Given the description of an element on the screen output the (x, y) to click on. 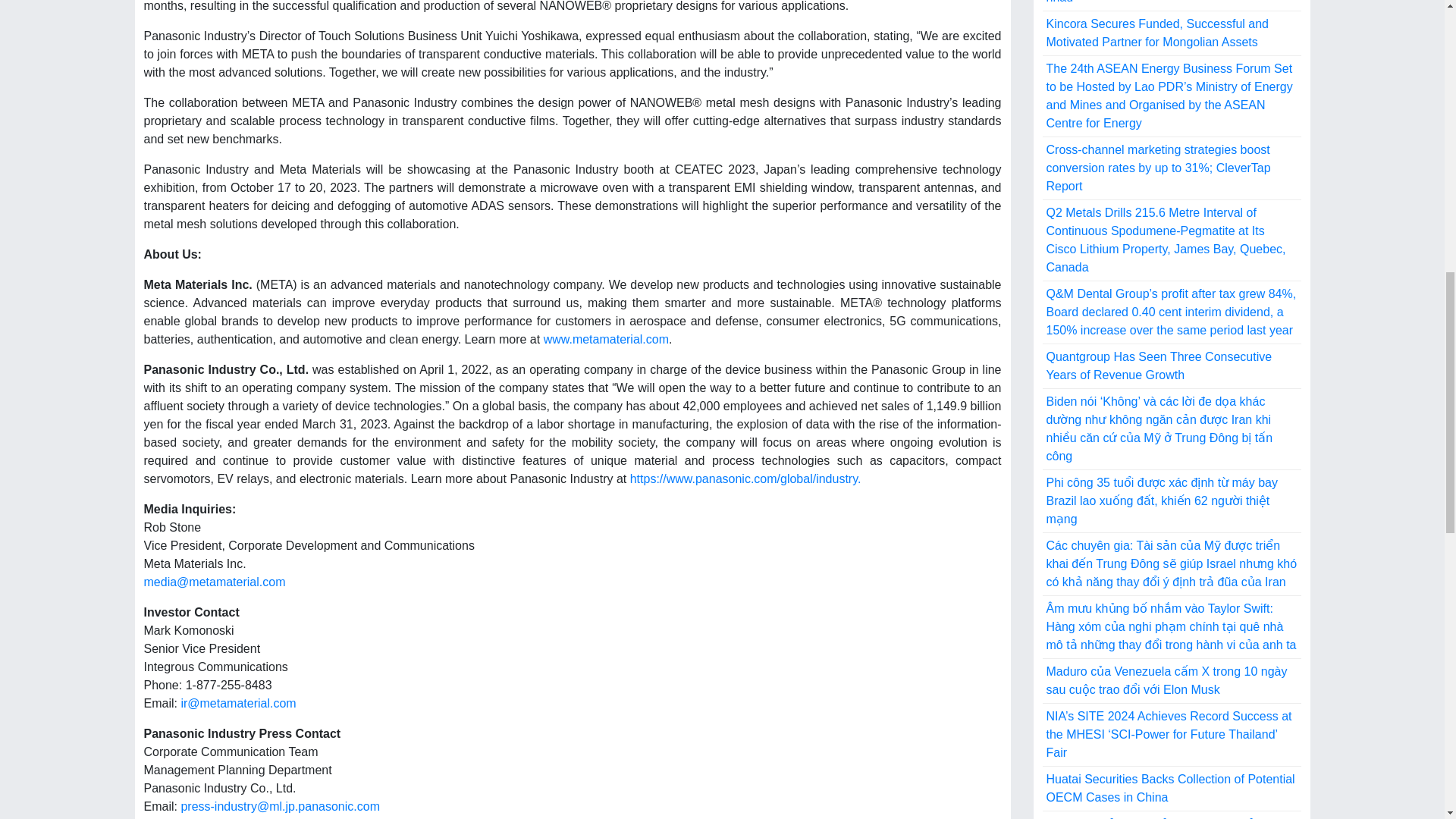
www.metamaterial.com (605, 338)
